Given the description of an element on the screen output the (x, y) to click on. 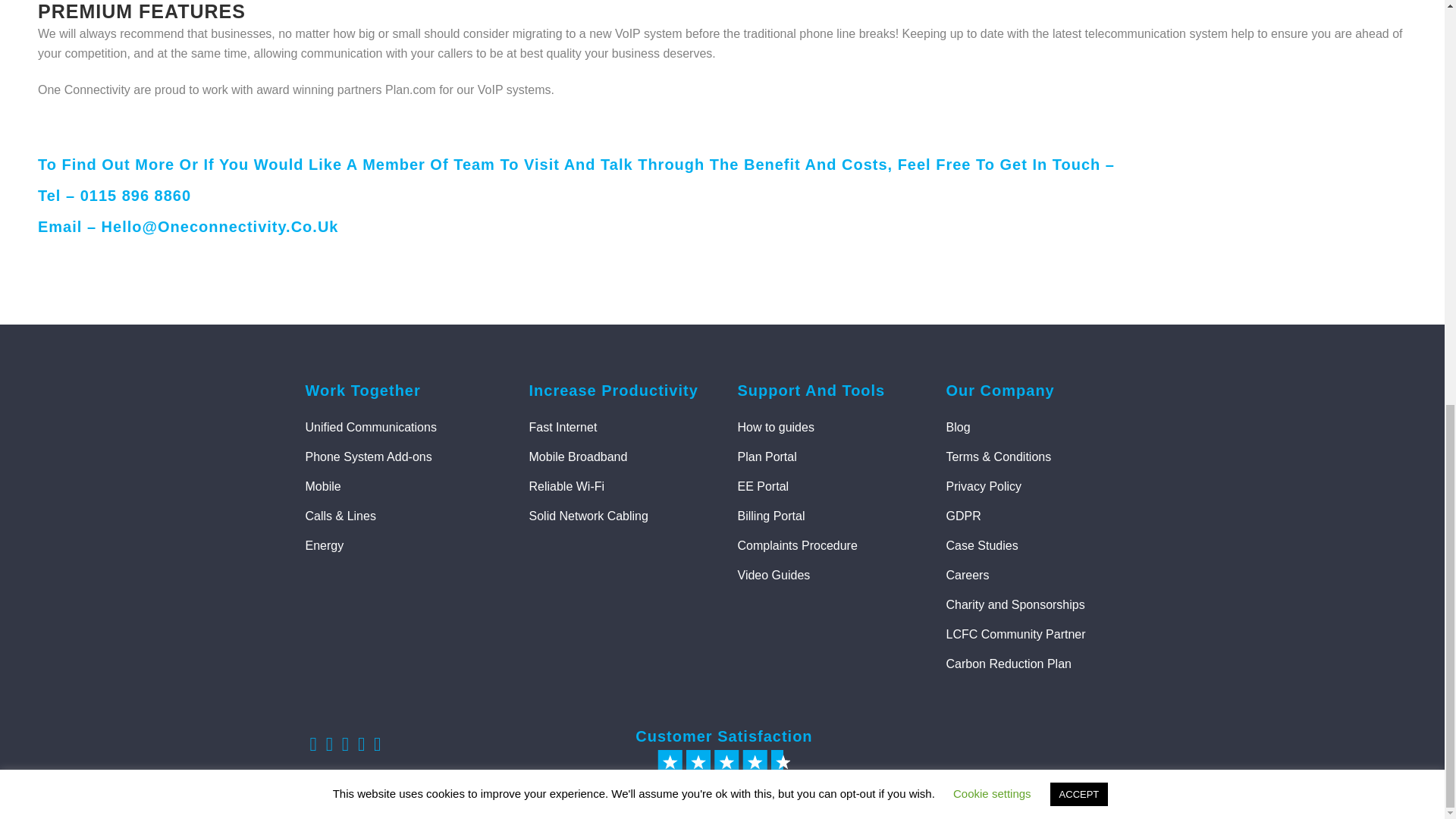
Phone System Add-ons (403, 457)
Unified Communications (403, 427)
Mobile (403, 486)
